Given the description of an element on the screen output the (x, y) to click on. 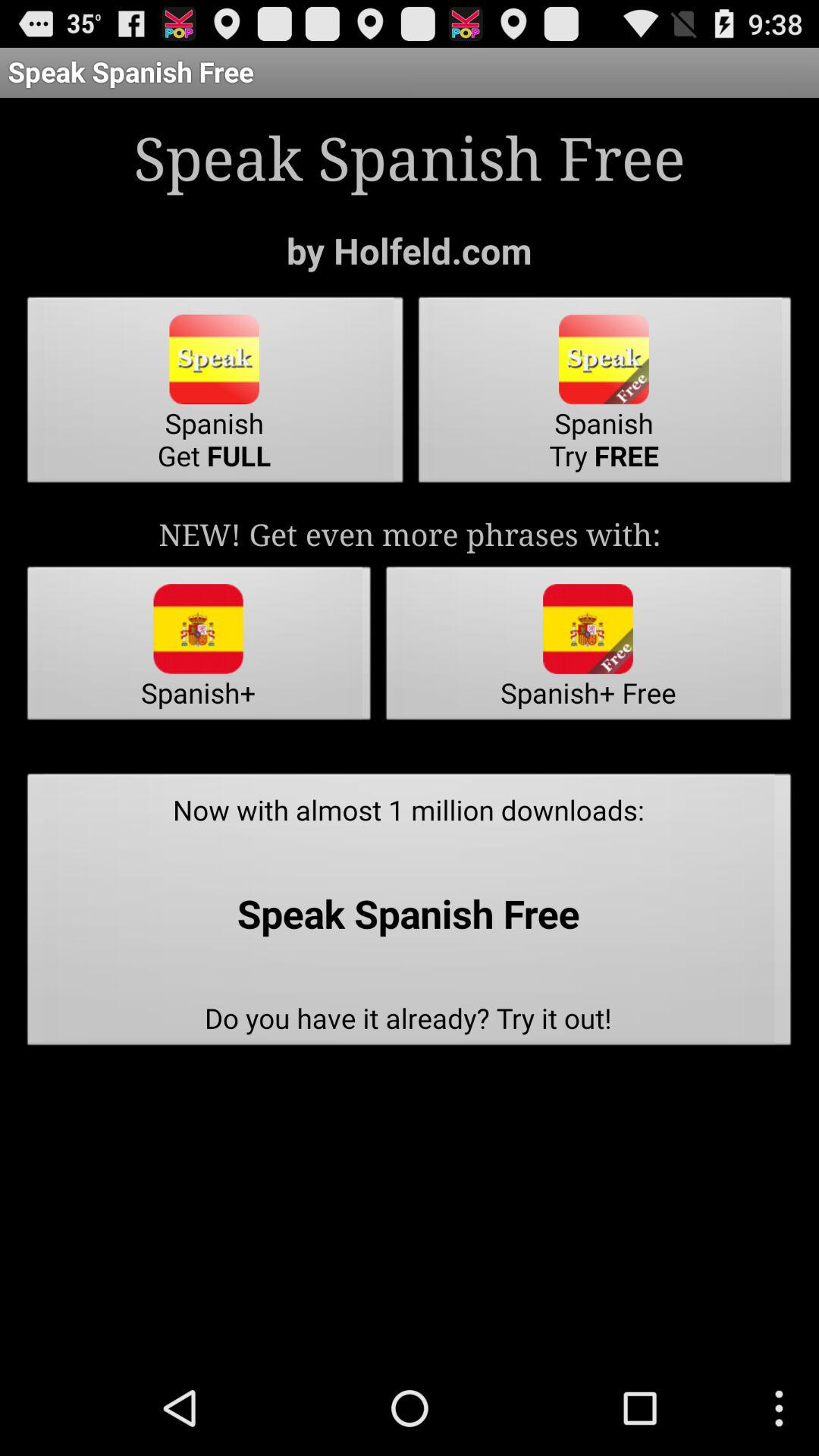
swipe to spanish
get full item (215, 394)
